Given the description of an element on the screen output the (x, y) to click on. 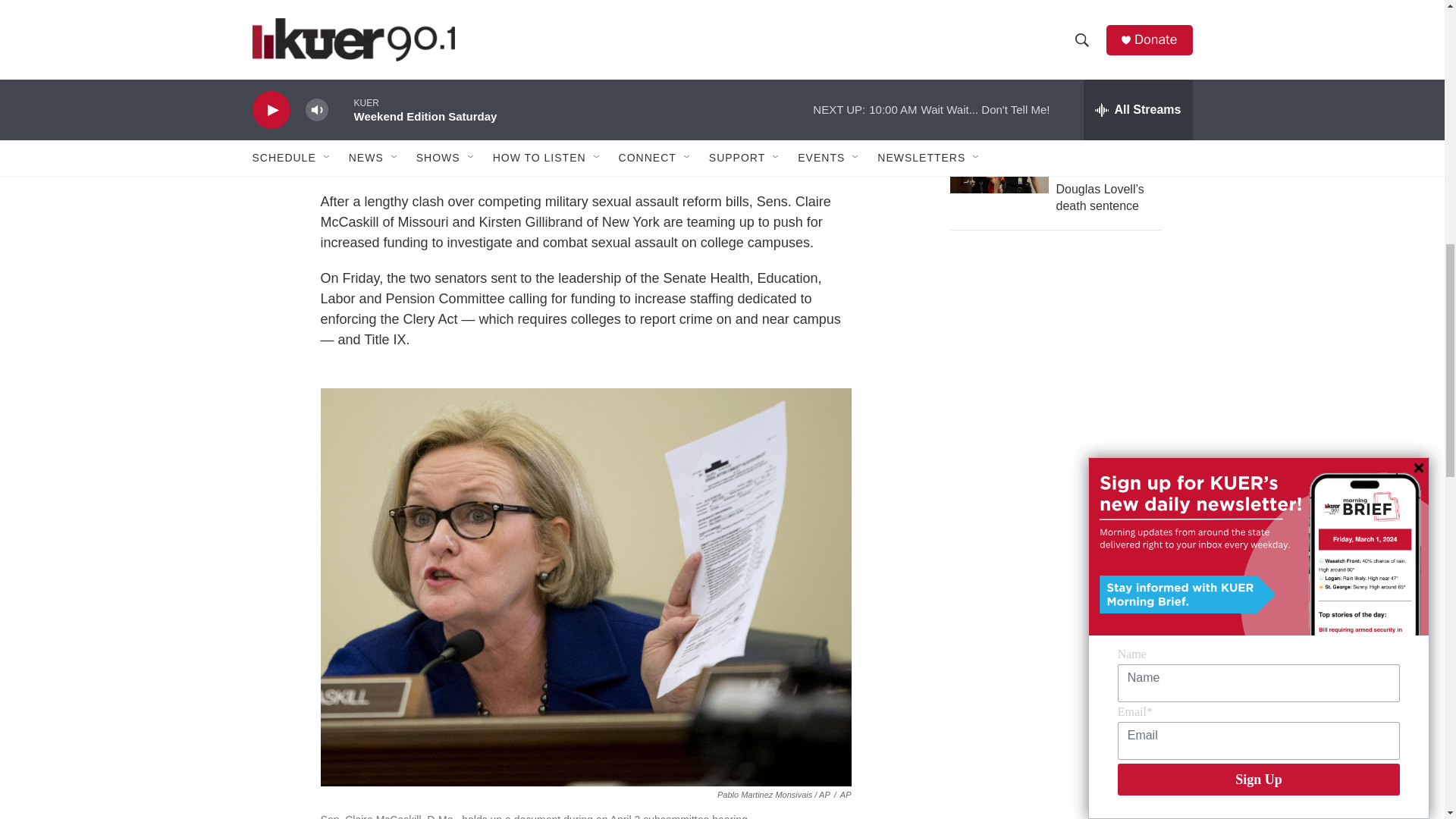
3rd party ad content (1062, 613)
3rd party ad content (1062, 374)
